Given the description of an element on the screen output the (x, y) to click on. 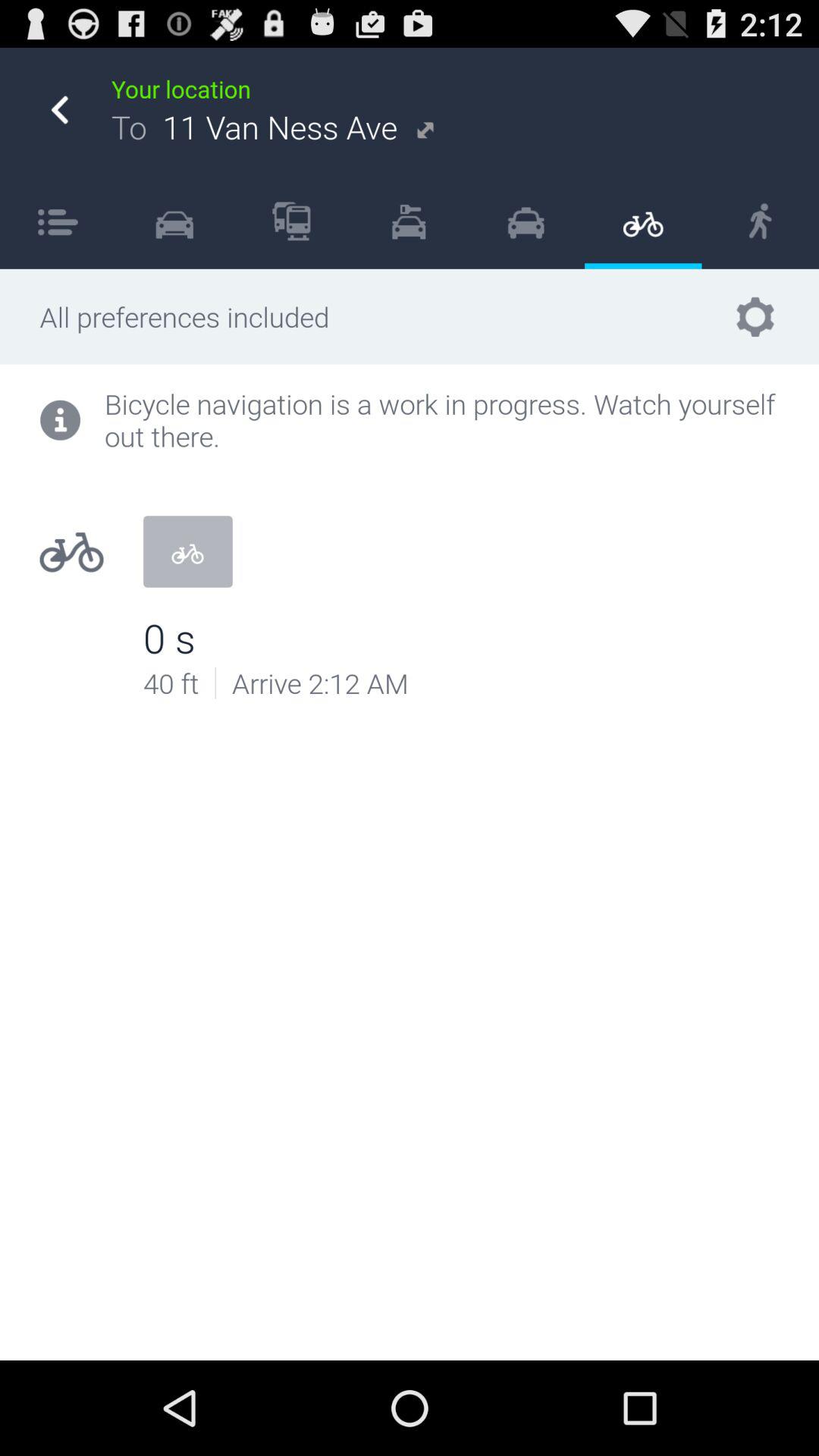
turn off the icon next to the (291, 221)
